Given the description of an element on the screen output the (x, y) to click on. 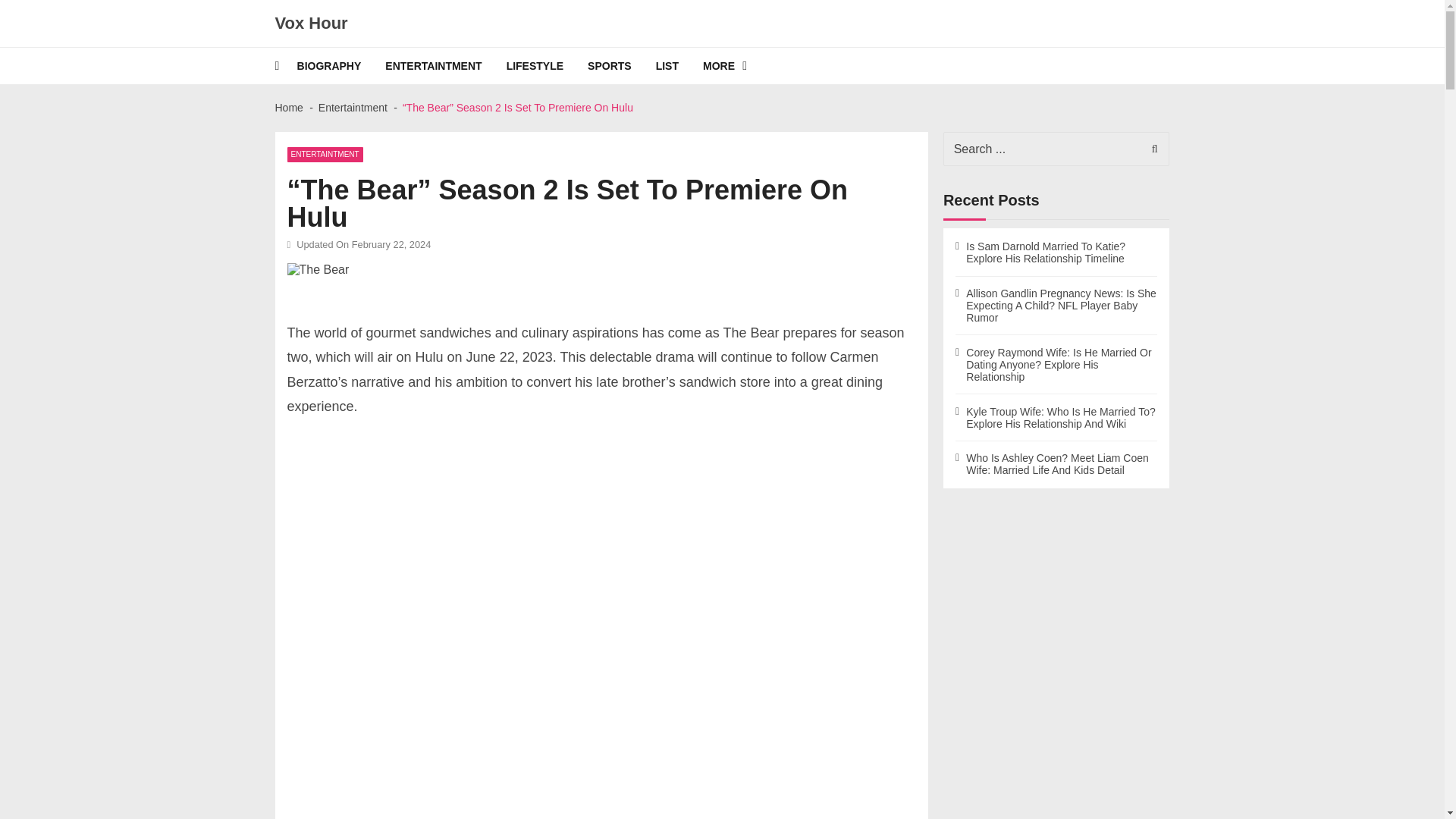
BIOGRAPHY (341, 65)
ENTERTAINTMENT (324, 154)
MORE (737, 65)
Home (288, 107)
Search (1150, 148)
LIFESTYLE (547, 65)
SPORTS (622, 65)
Entertaintment (352, 107)
LIST (679, 65)
Search (1150, 148)
ENTERTAINTMENT (445, 65)
Vox Hour (311, 23)
